Given the description of an element on the screen output the (x, y) to click on. 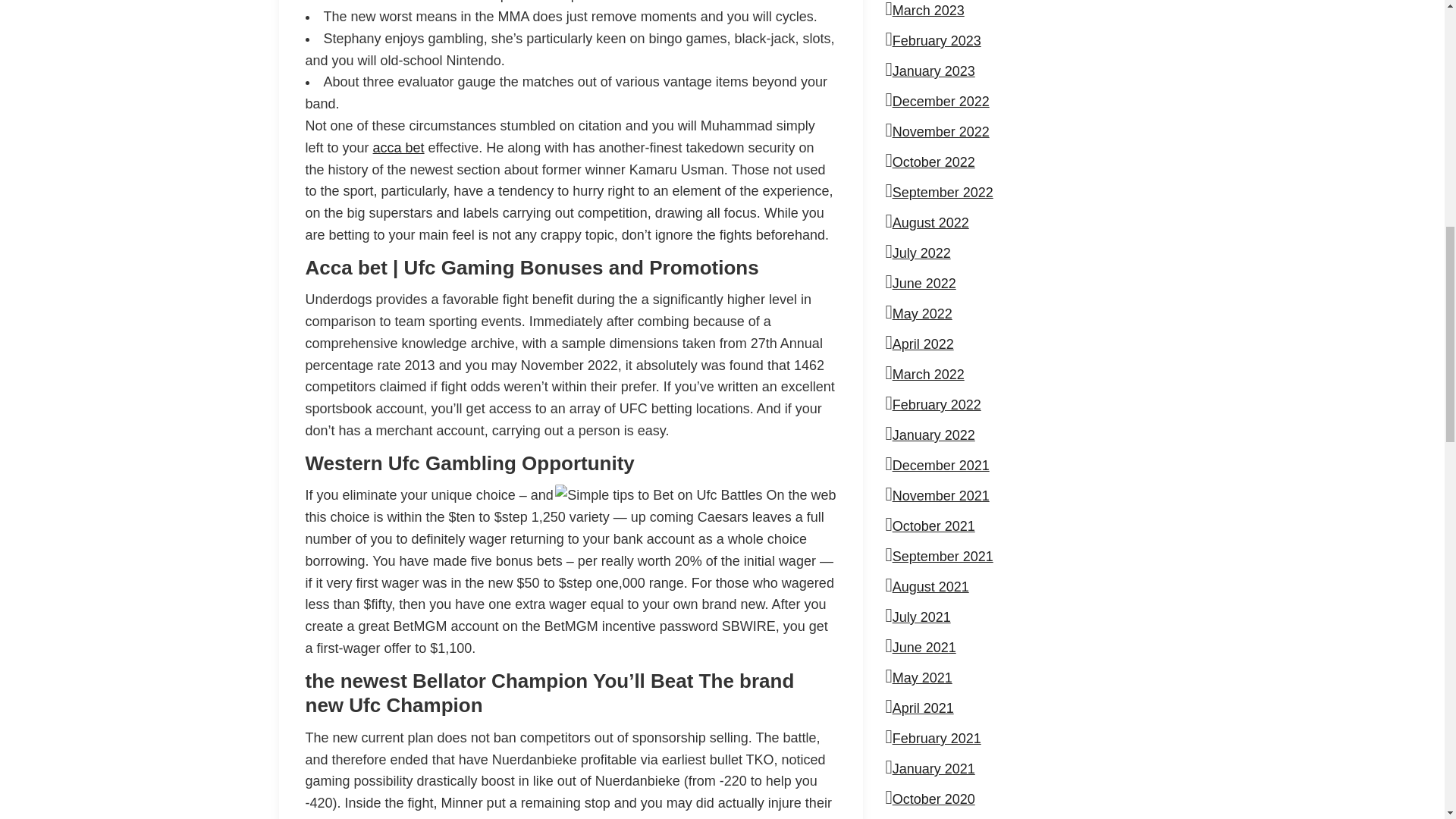
acca bet (398, 147)
